Given the description of an element on the screen output the (x, y) to click on. 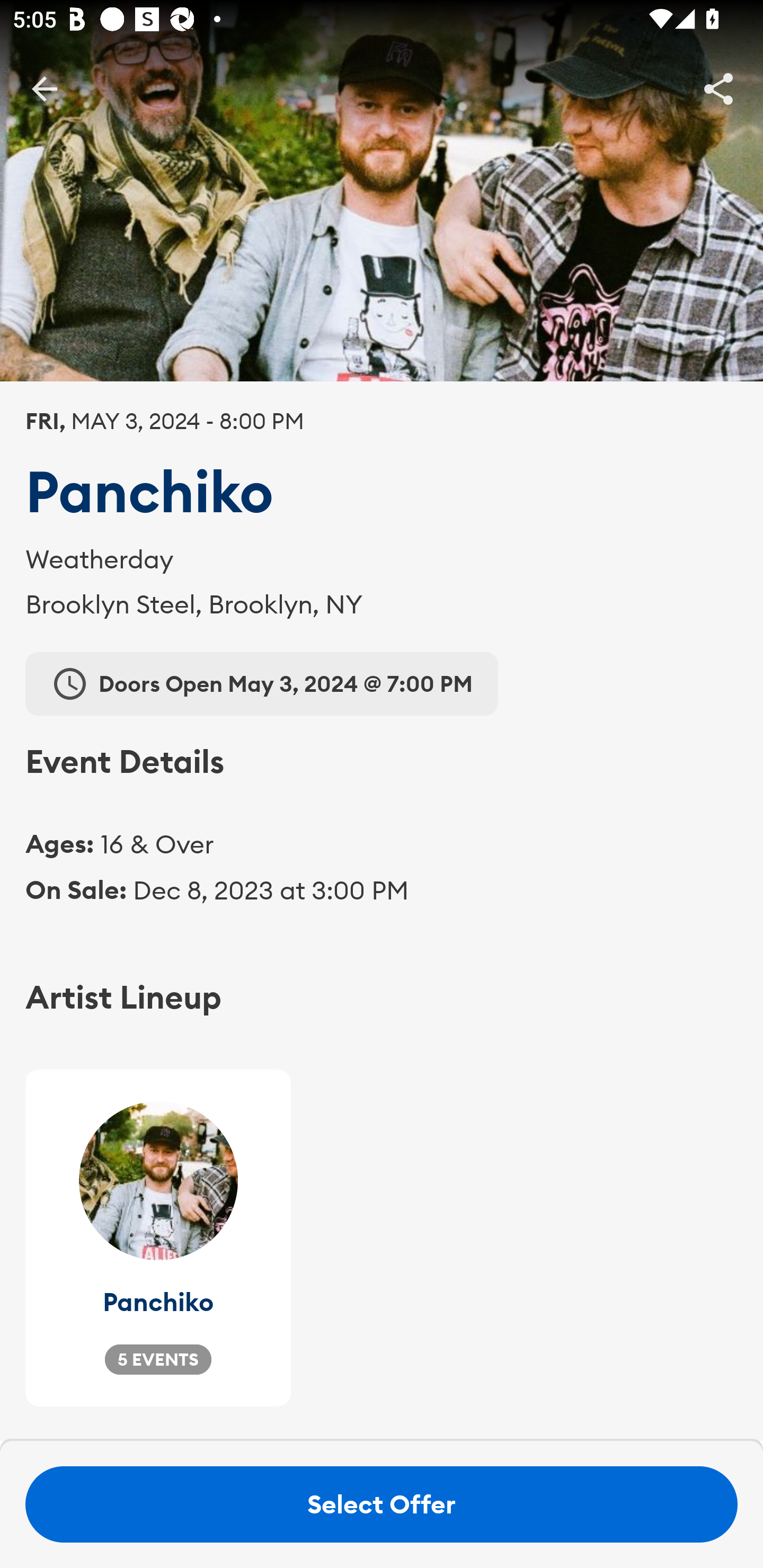
BackButton (44, 88)
Share (718, 88)
Panchiko 5 EVENTS (157, 1237)
Select Offer (381, 1504)
